Given the description of an element on the screen output the (x, y) to click on. 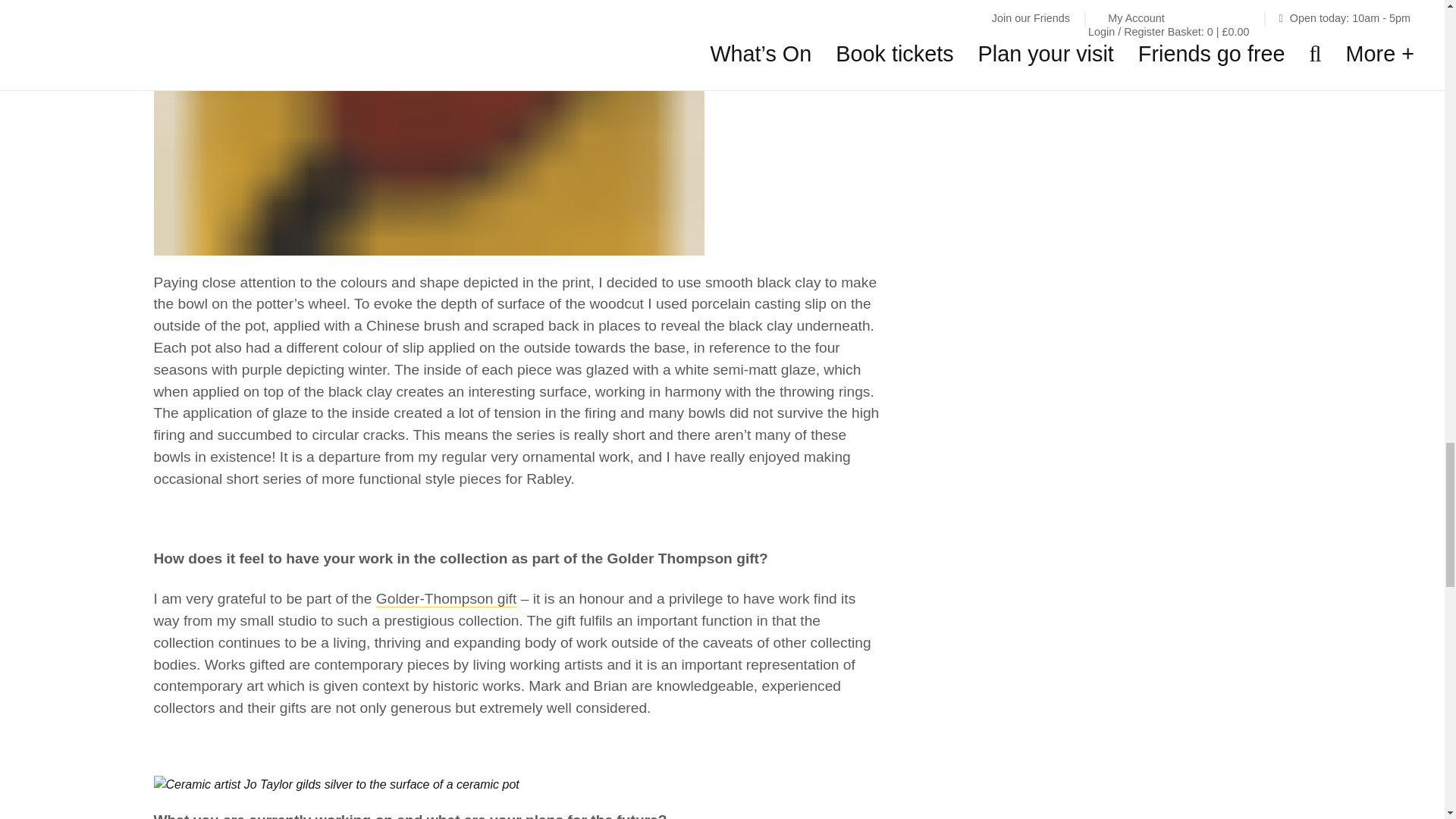
Jo Taylor - People Make Museums (335, 784)
Golder-Thompson gift (445, 598)
